Given the description of an element on the screen output the (x, y) to click on. 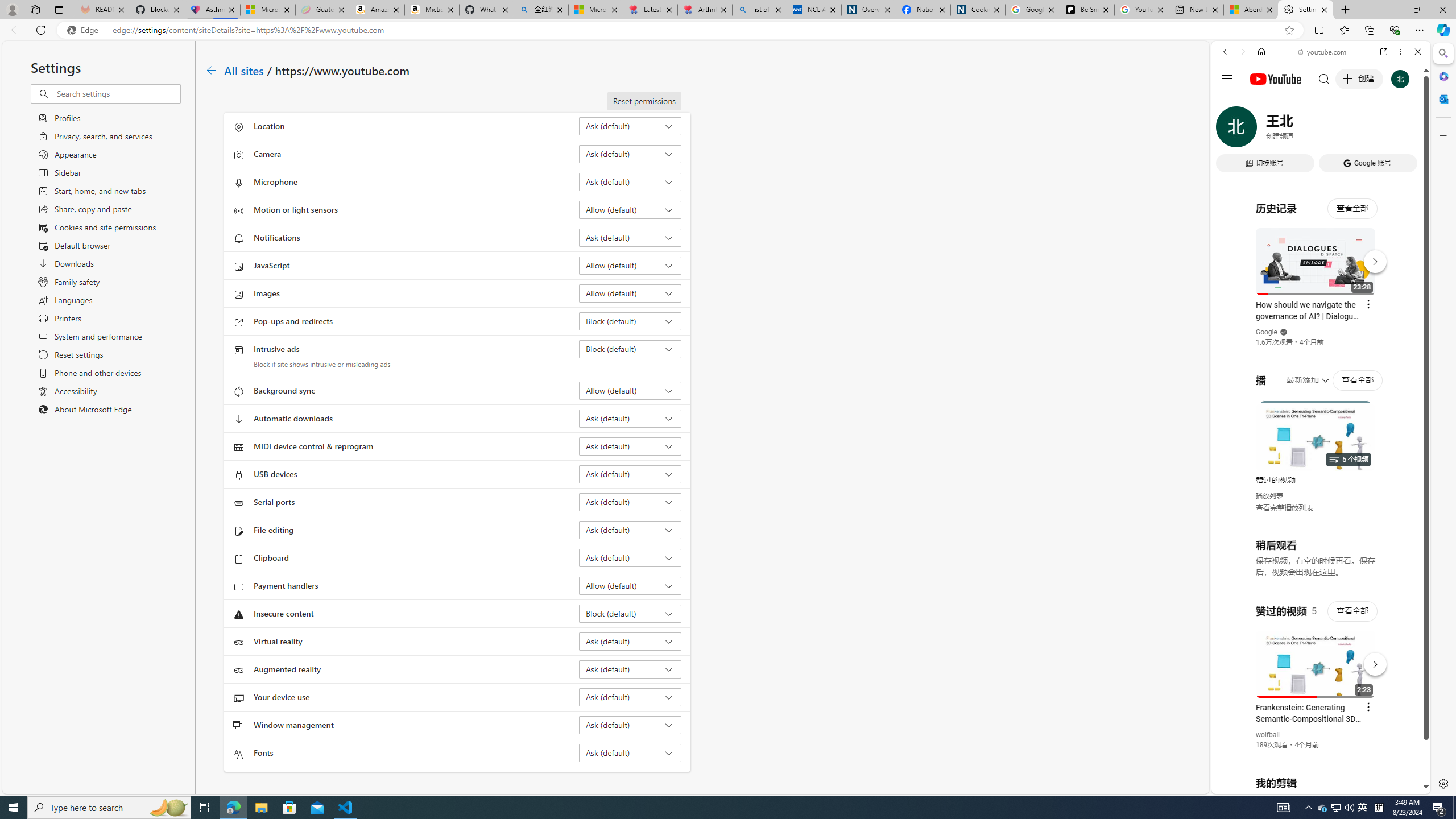
Trailer #2 [HD] (1320, 337)
Your device use Ask (default) (630, 696)
Be Smart | creating Science videos | Patreon (1087, 9)
Location Ask (default) (630, 126)
File editing Ask (default) (630, 529)
Cookies (978, 9)
Notifications Ask (default) (630, 237)
